Given the description of an element on the screen output the (x, y) to click on. 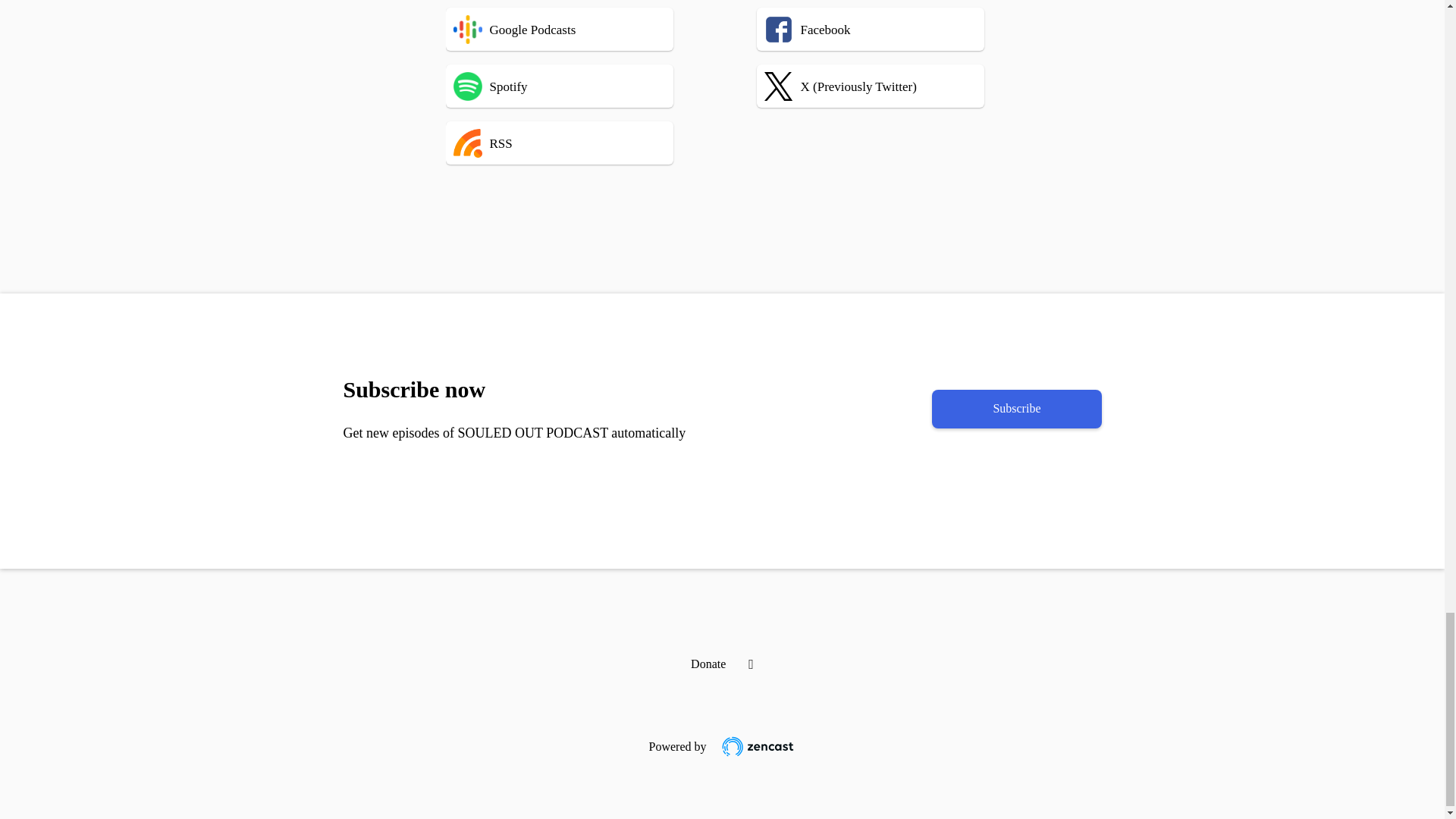
RSS (582, 142)
Facebook (877, 28)
Google Podcasts (582, 28)
Spotify (582, 85)
Subscribe (1015, 408)
Powered by (721, 740)
Donate (707, 663)
